Given the description of an element on the screen output the (x, y) to click on. 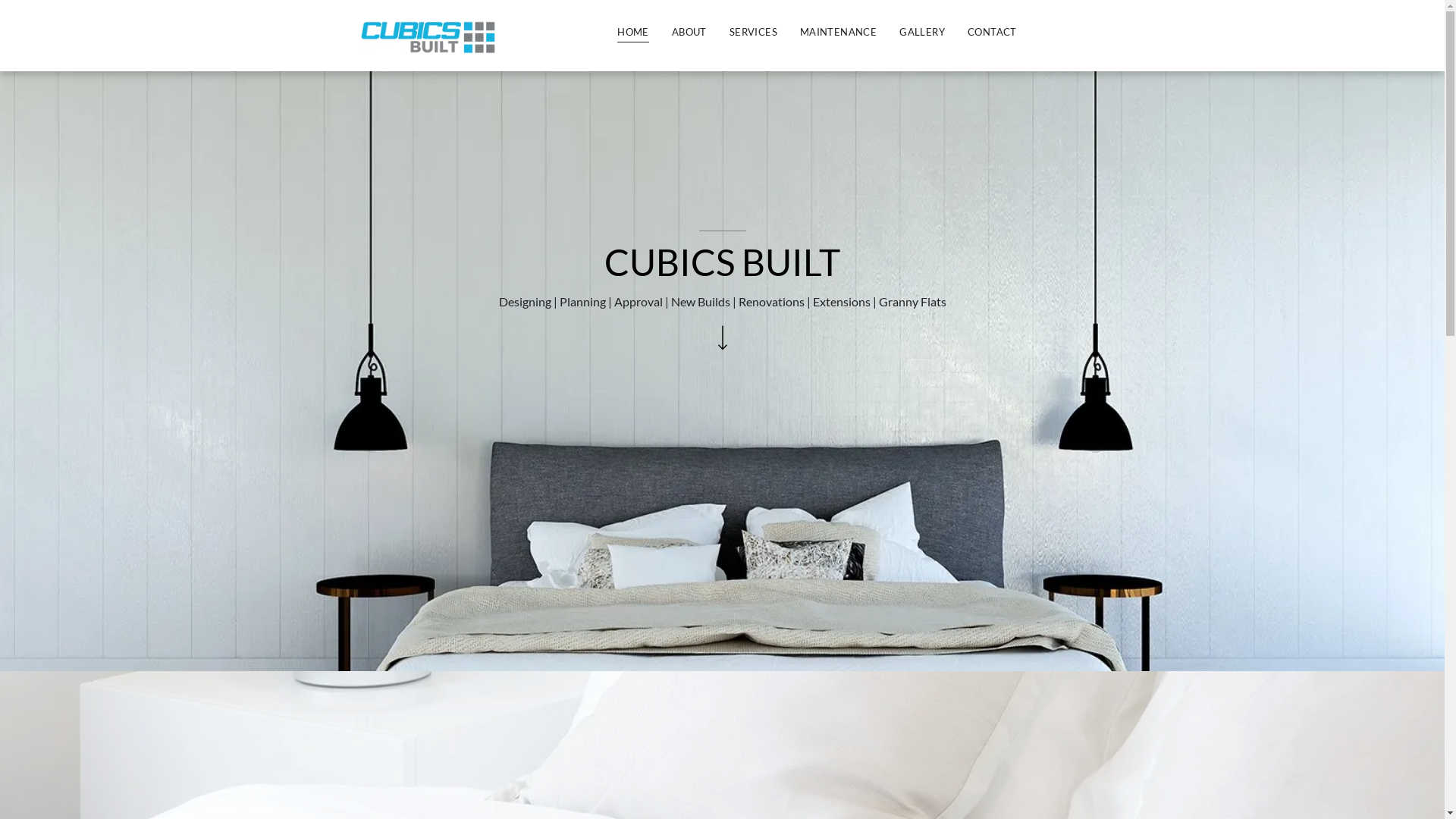
MAINTENANCE Element type: text (838, 32)
CONTACT Element type: text (992, 32)
SERVICES Element type: text (753, 32)
GALLERY Element type: text (922, 32)
ABOUT Element type: text (689, 32)
HOME Element type: text (632, 32)
